Given the description of an element on the screen output the (x, y) to click on. 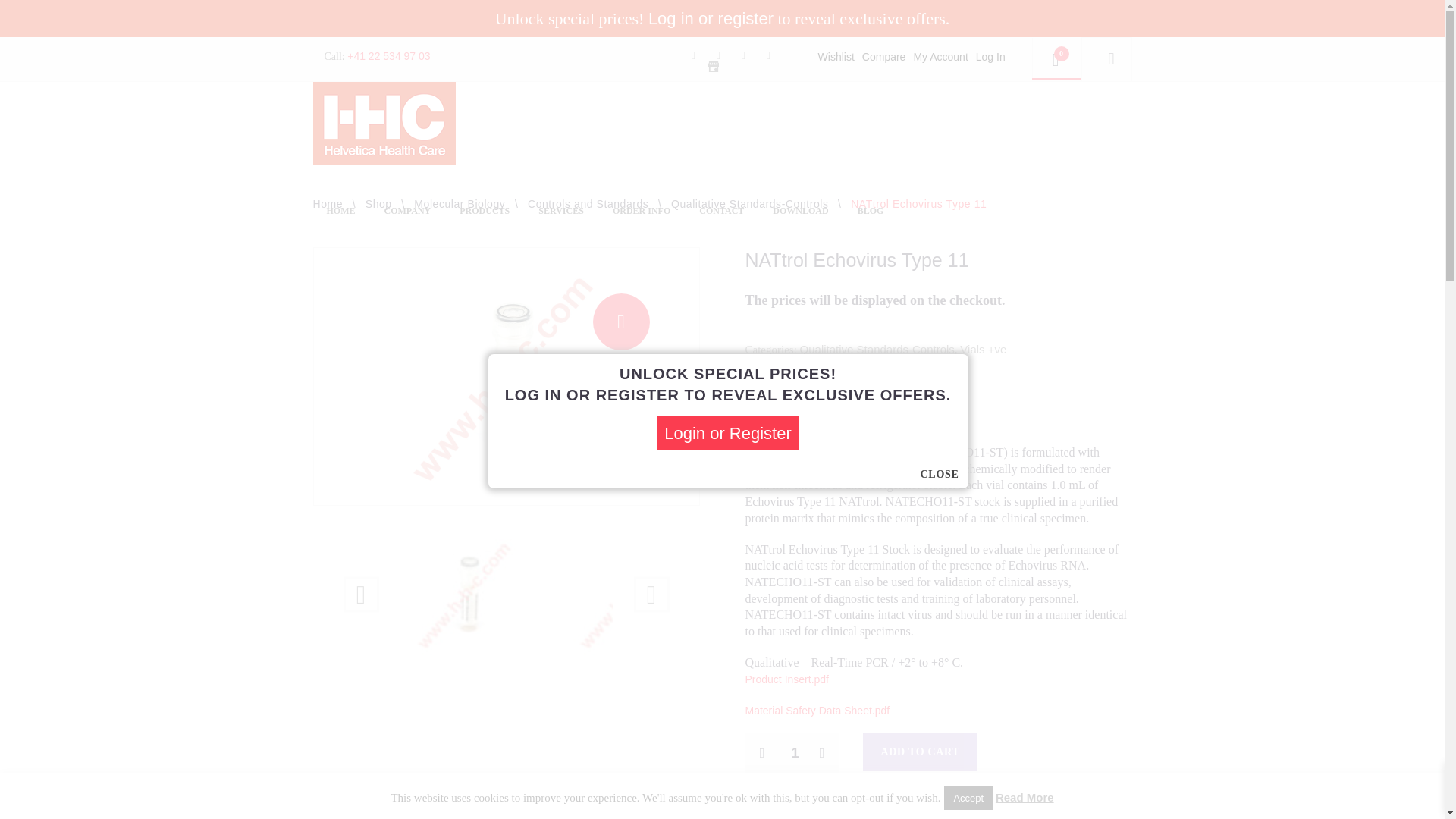
Qualitative Standards-Controls (749, 203)
Shop (378, 203)
Log In (990, 56)
1 (791, 753)
SERVICES (561, 211)
Wishlist (836, 56)
Close (939, 474)
Home (327, 203)
Log in or register (710, 18)
COMPANY (407, 211)
My Account (940, 56)
Compare (883, 56)
Molecular Biology (459, 203)
Controls and Standards (587, 203)
HOME (340, 211)
